Given the description of an element on the screen output the (x, y) to click on. 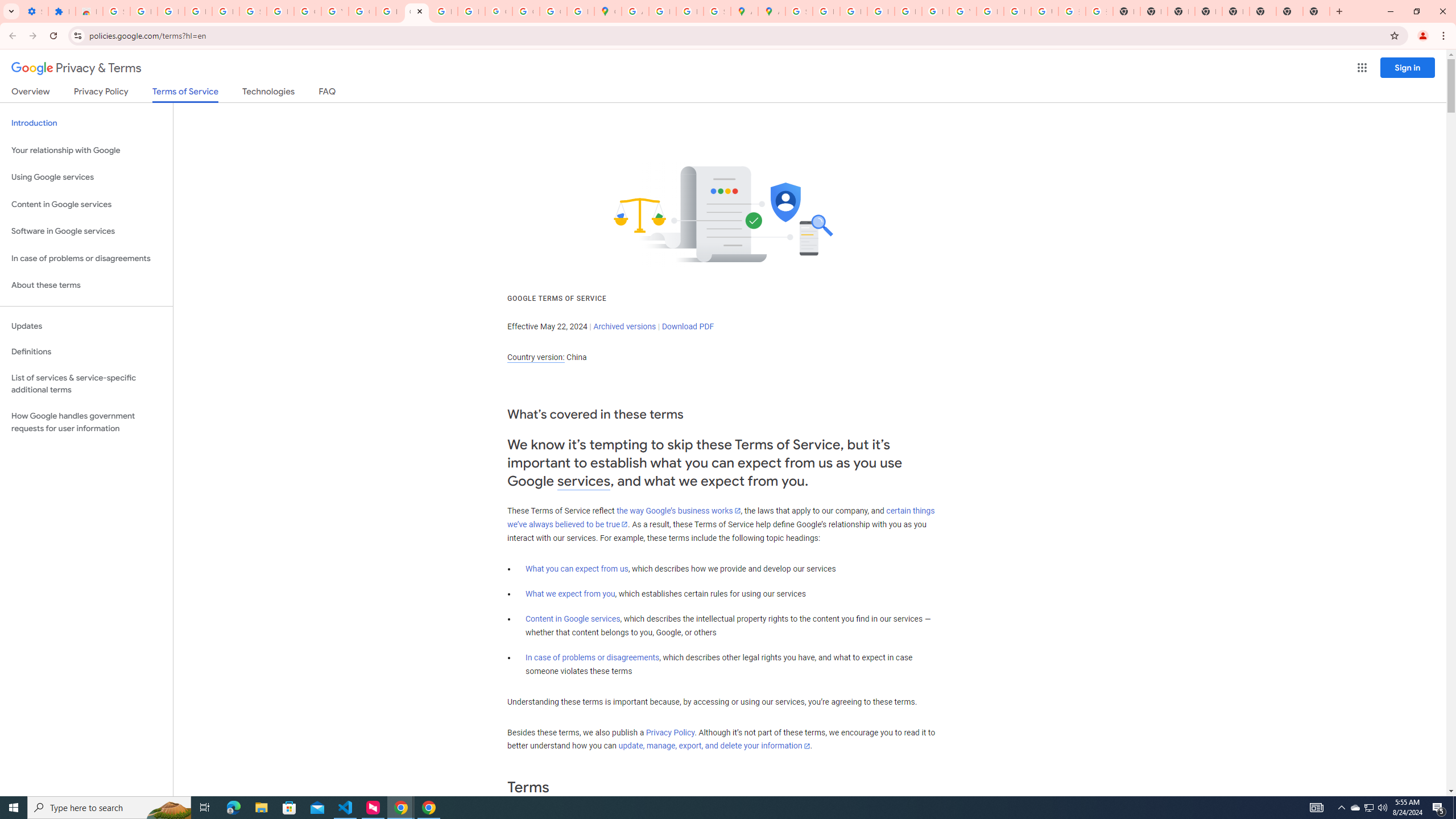
Google Maps (607, 11)
Safety in Our Products - Google Safety Center (716, 11)
About these terms (86, 284)
YouTube (962, 11)
Settings - On startup (34, 11)
New Tab (1289, 11)
Your relationship with Google (86, 150)
Google Account (307, 11)
Software in Google services (86, 230)
Definitions (86, 352)
